Given the description of an element on the screen output the (x, y) to click on. 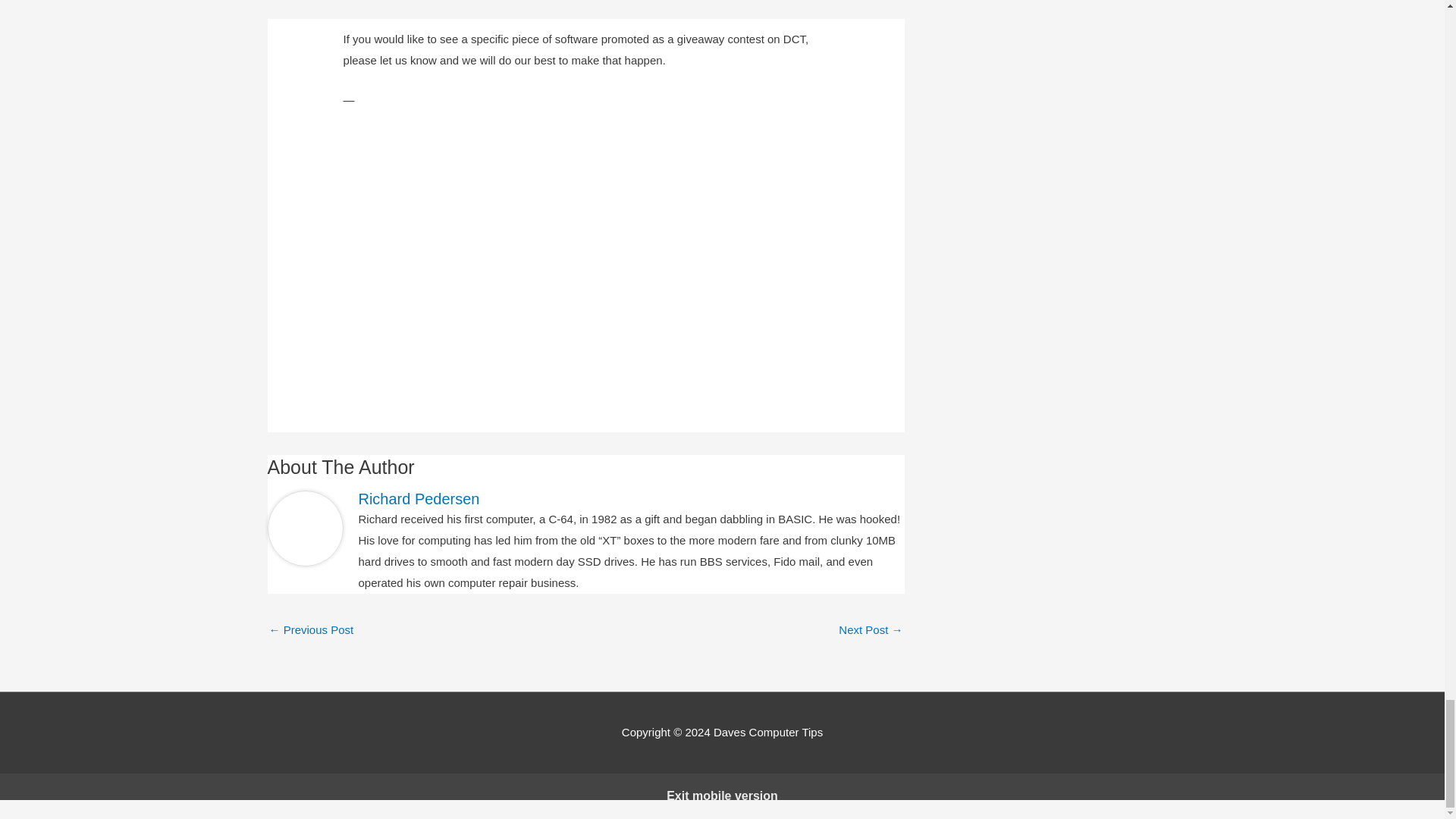
Merry Christmas From Dave's Computer Tips (870, 631)
How To Record Internet Audio With Audacity (310, 631)
